Given the description of an element on the screen output the (x, y) to click on. 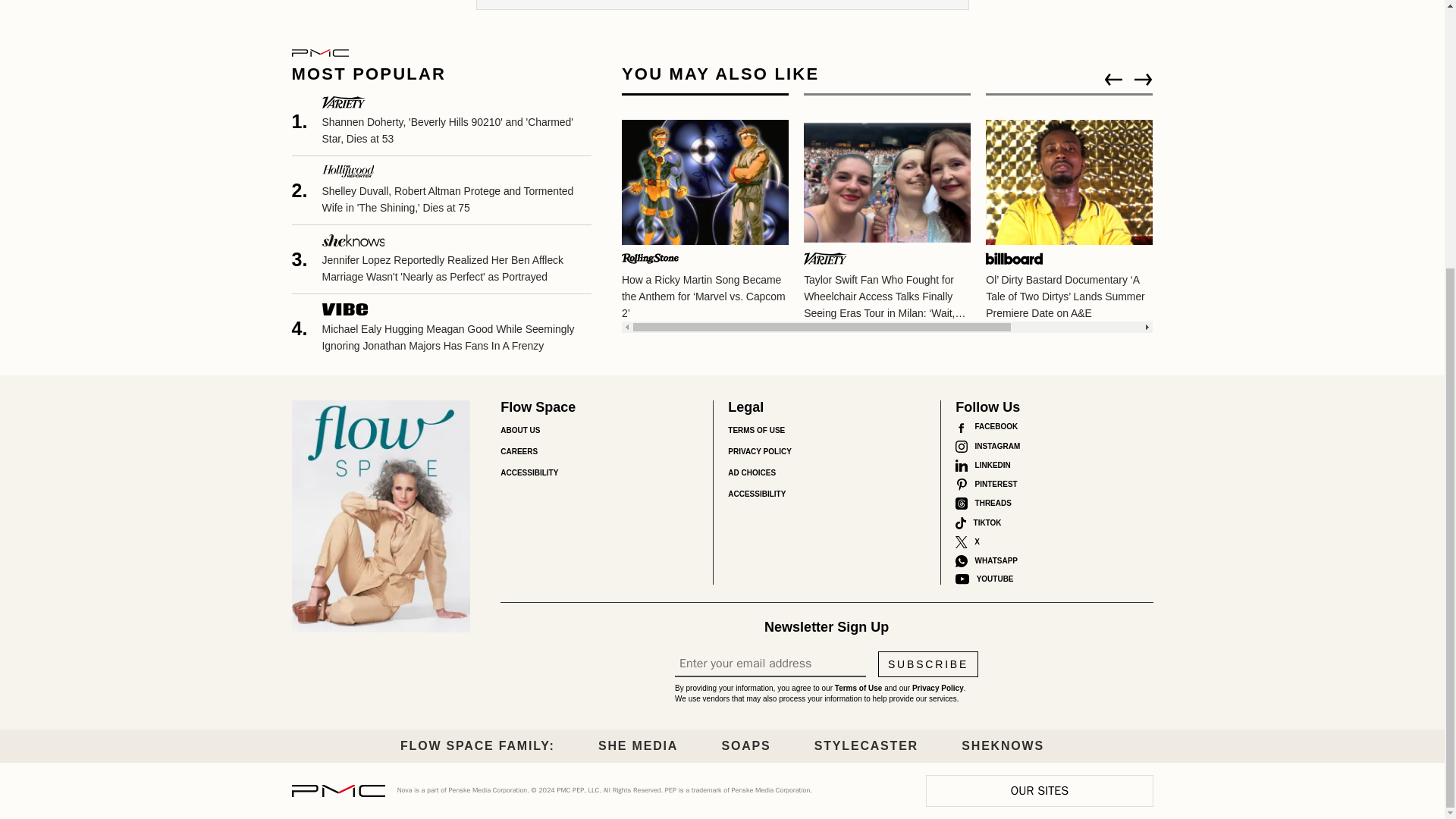
Submit (494, 4)
